Given the description of an element on the screen output the (x, y) to click on. 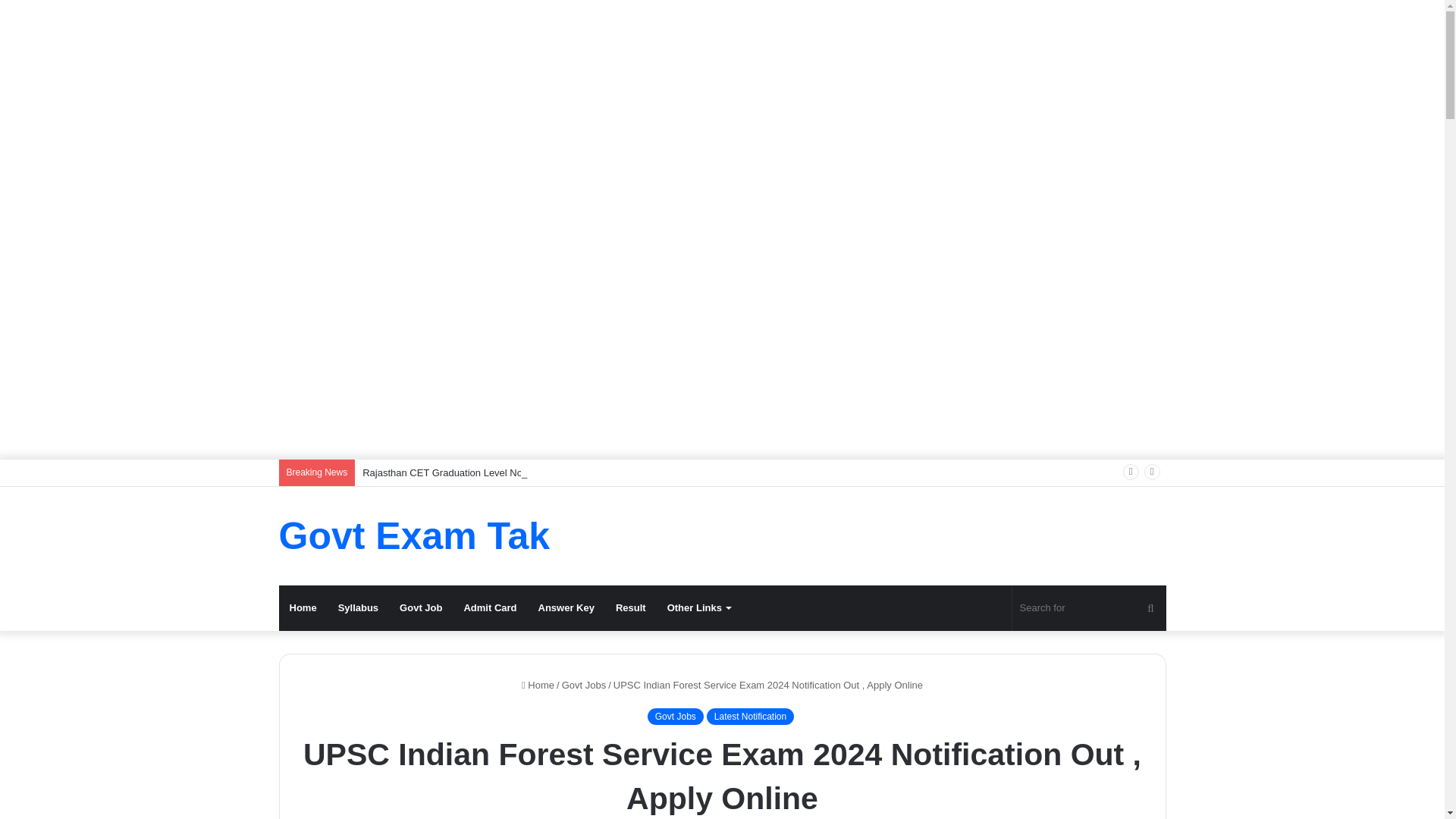
Search for (1088, 607)
Admit Card (489, 607)
Syllabus (357, 607)
Govt Exam Tak (414, 535)
Other Links (698, 607)
Govt Job (420, 607)
Answer Key (566, 607)
Home (303, 607)
Govt Jobs (675, 716)
Govt Exam Tak (414, 535)
Govt Jobs (584, 685)
Home (537, 685)
Latest Notification (749, 716)
Result (630, 607)
